Given the description of an element on the screen output the (x, y) to click on. 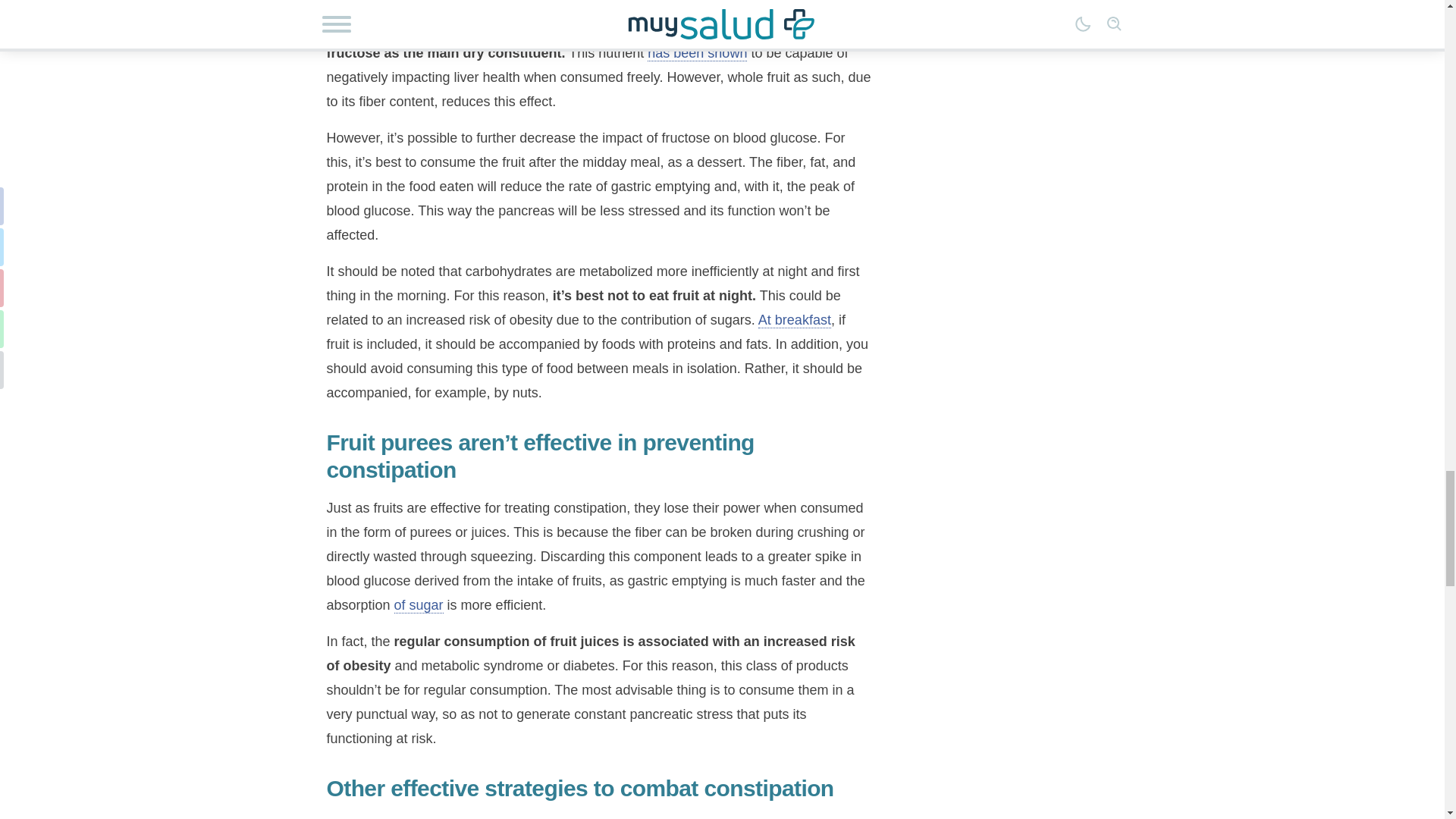
of sugar (419, 605)
At breakfast (794, 320)
has been shown (696, 53)
